Given the description of an element on the screen output the (x, y) to click on. 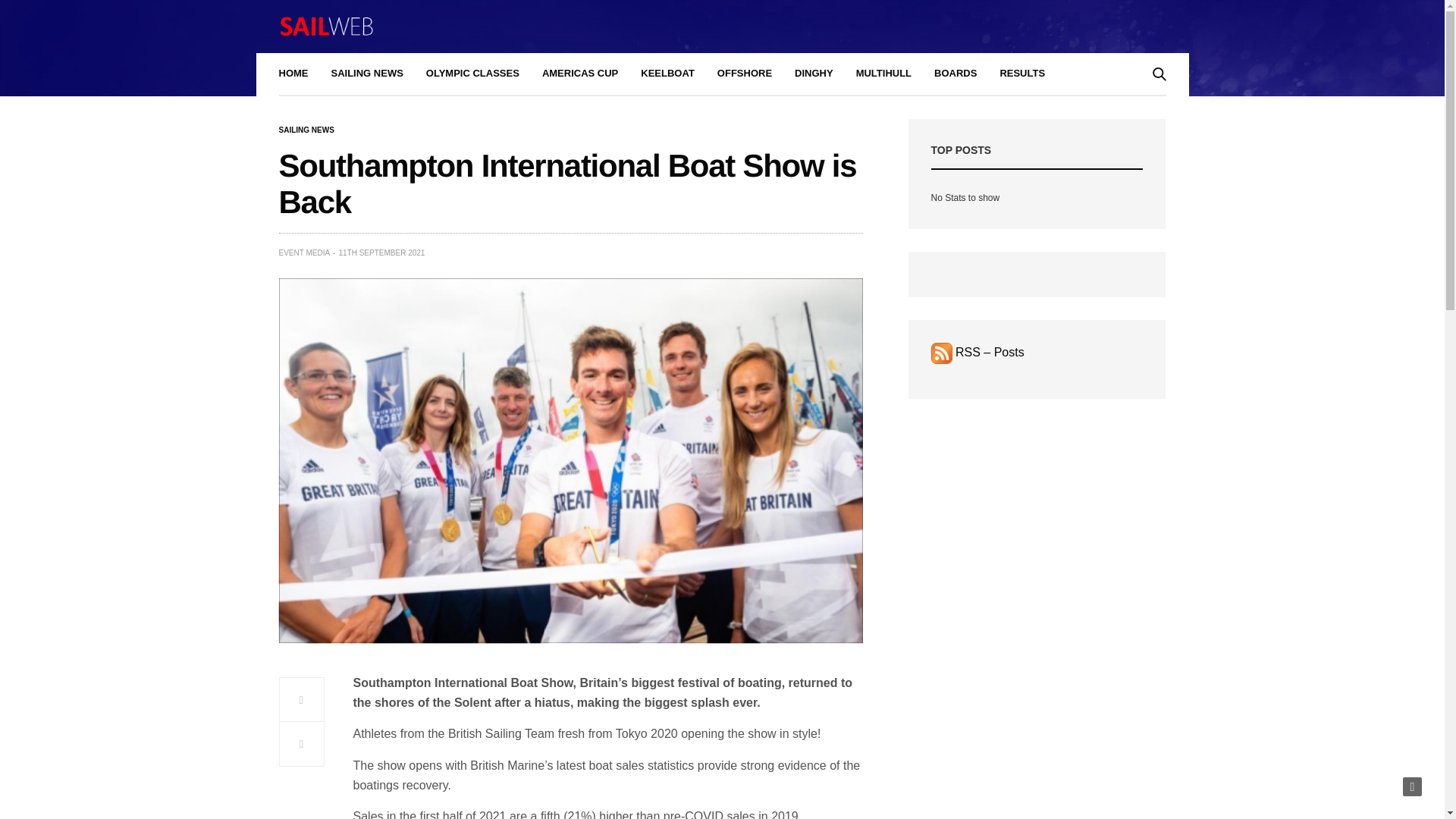
BOARDS (955, 73)
AMERICAS CUP (579, 73)
Sailing News (306, 130)
EVENT MEDIA (304, 253)
SAILING NEWS (306, 130)
OFFSHORE (744, 73)
OLYMPIC CLASSES (472, 73)
RESULTS (1021, 73)
KEELBOAT (667, 73)
Search (1137, 115)
MULTIHULL (883, 73)
Posts by Event Media (304, 253)
SAILING NEWS (366, 73)
DINGHY (813, 73)
HOME (293, 73)
